Given the description of an element on the screen output the (x, y) to click on. 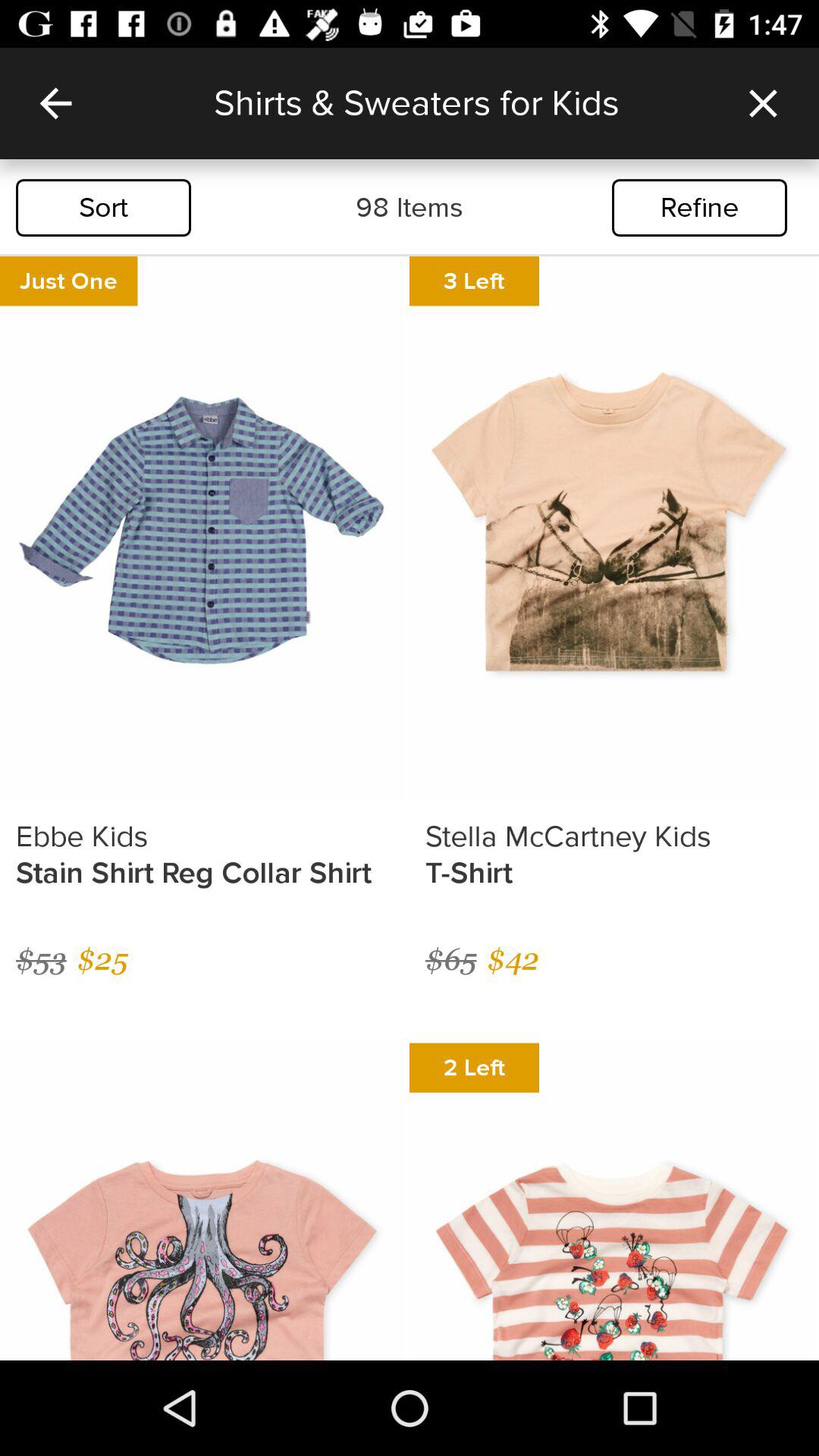
swipe to the shirts sweaters for icon (460, 103)
